Given the description of an element on the screen output the (x, y) to click on. 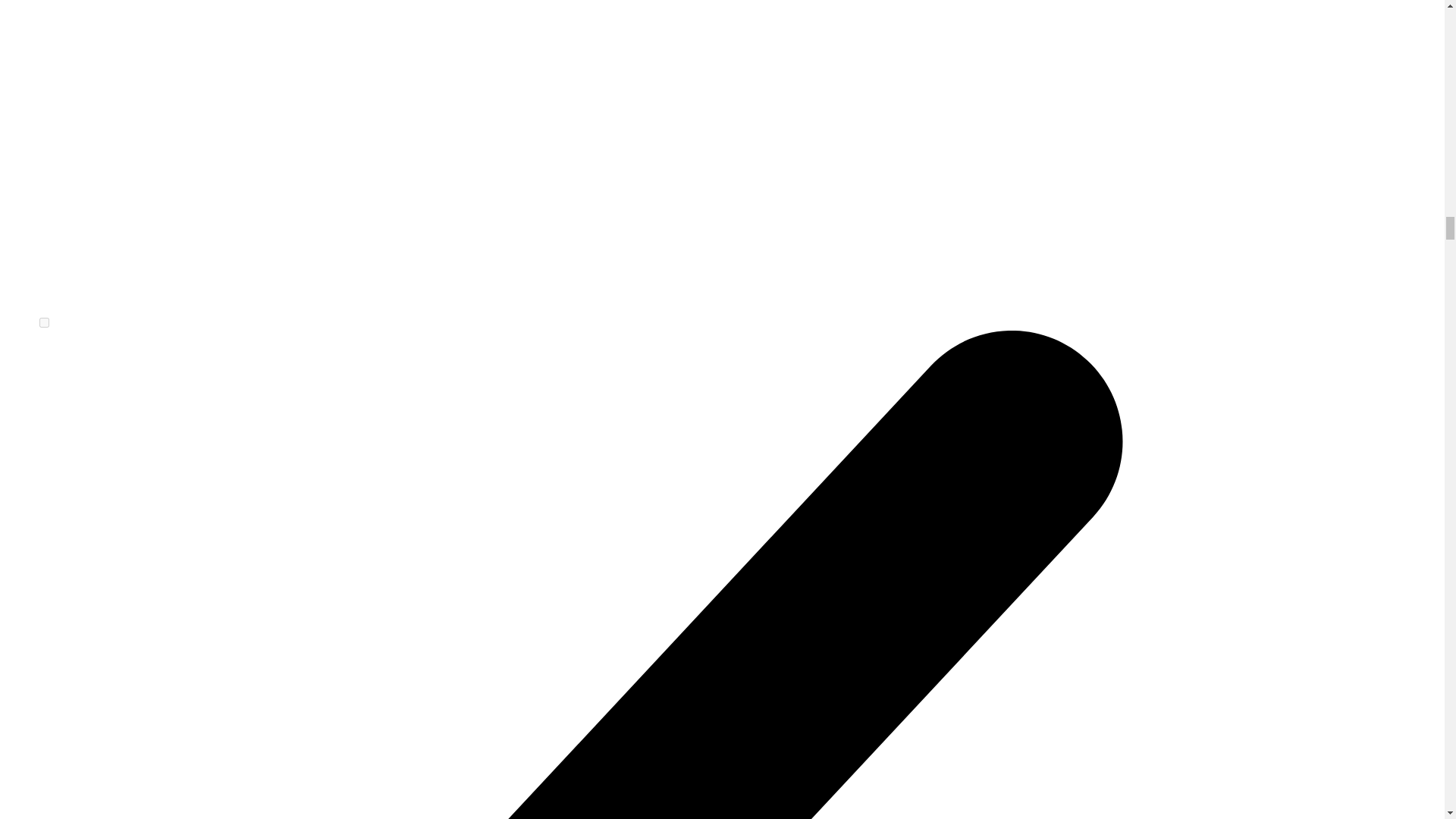
on (44, 322)
